Given the description of an element on the screen output the (x, y) to click on. 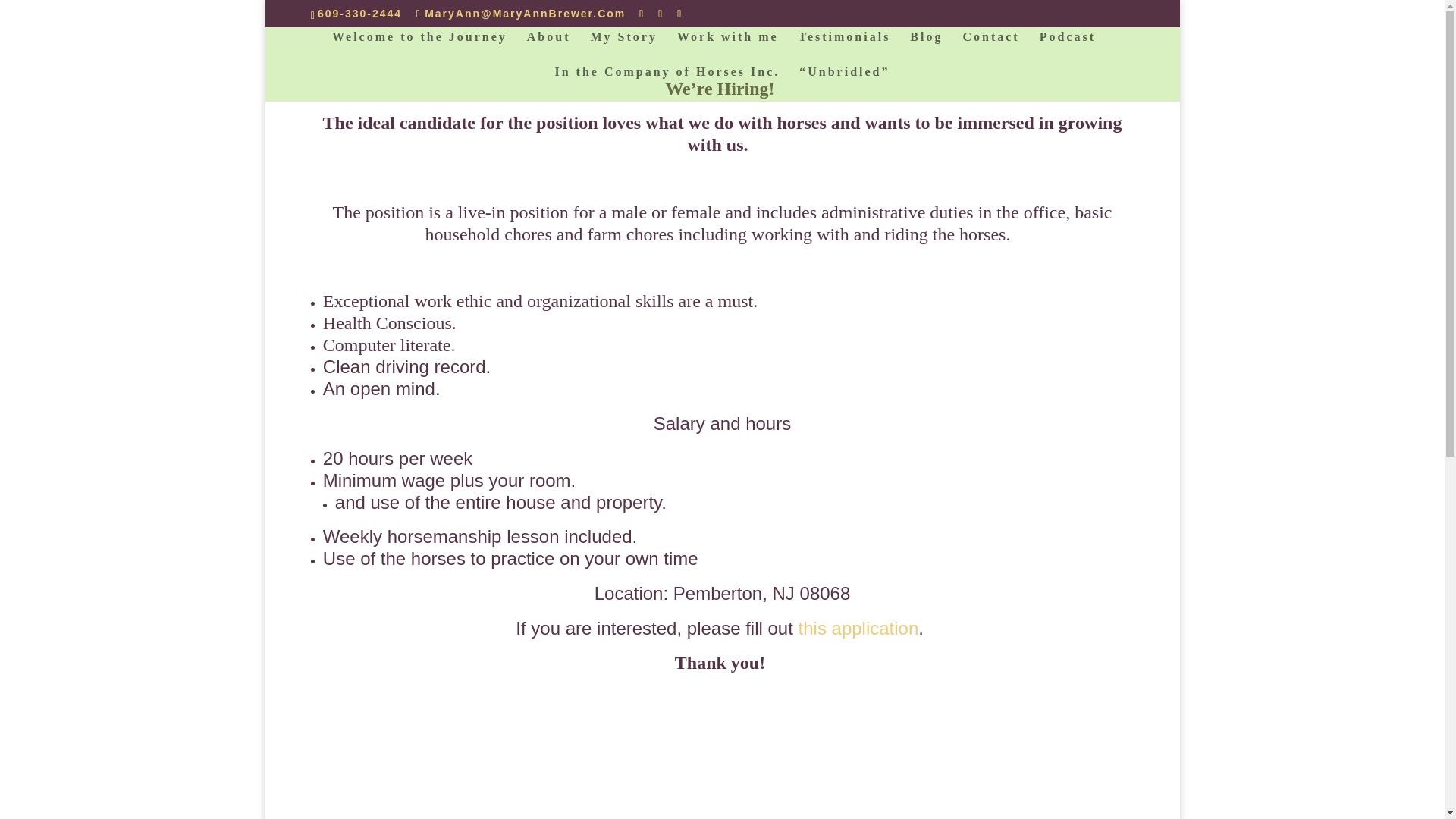
In the Company of Horses Inc. (666, 83)
Contact (990, 48)
Testimonials (844, 48)
Podcast (1067, 48)
My Story (622, 48)
Welcome to the Journey (418, 48)
this application (857, 628)
Work with me (727, 48)
Blog (926, 48)
About (548, 48)
